Given the description of an element on the screen output the (x, y) to click on. 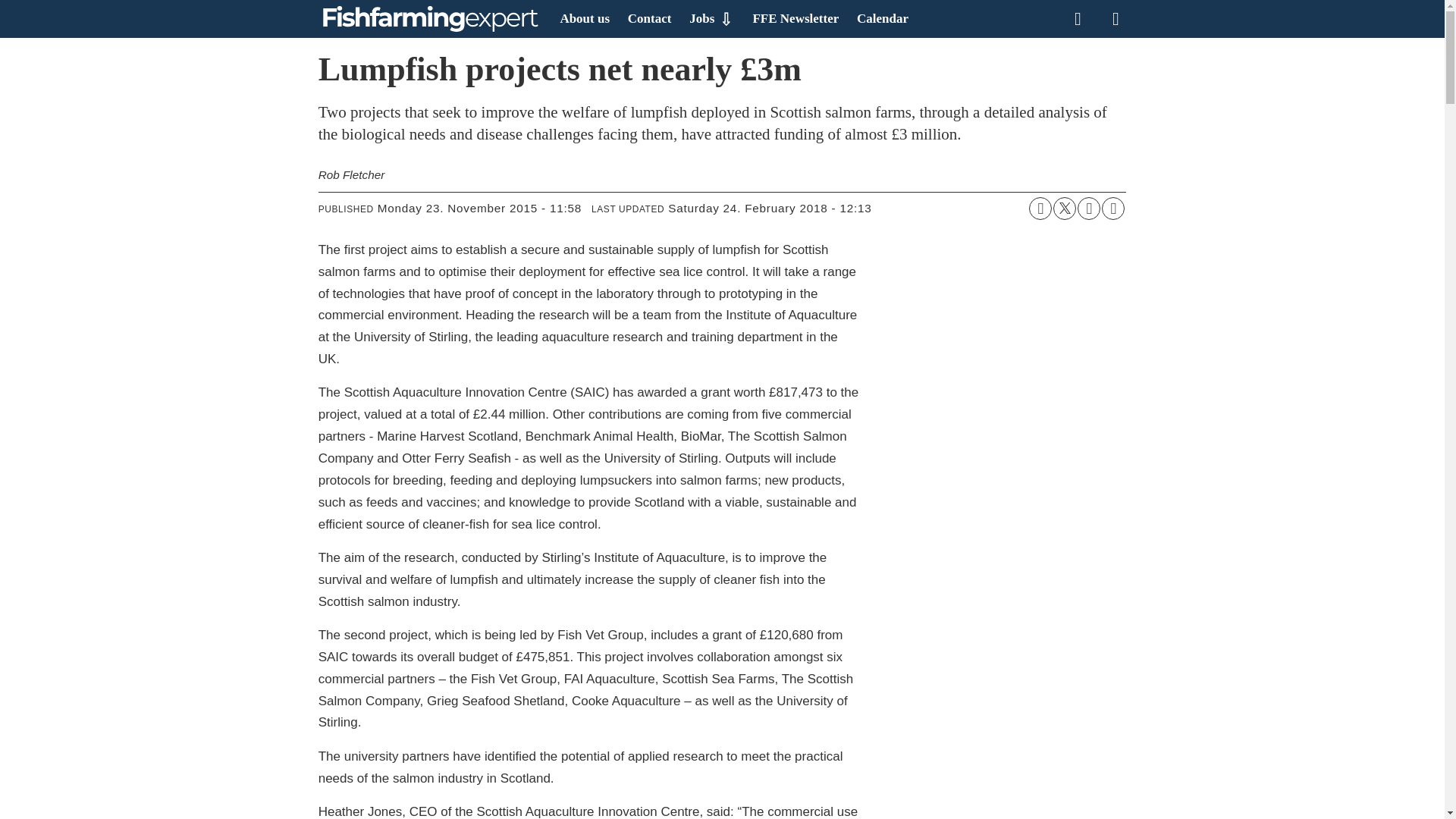
Contact (649, 18)
FFE Newsletter (795, 18)
About us (584, 18)
Calendar (882, 18)
Published monday 23. November 2015 - 11:58 (478, 208)
Last updated saturday 24. February 2018 - 12:13 (769, 208)
